Given the description of an element on the screen output the (x, y) to click on. 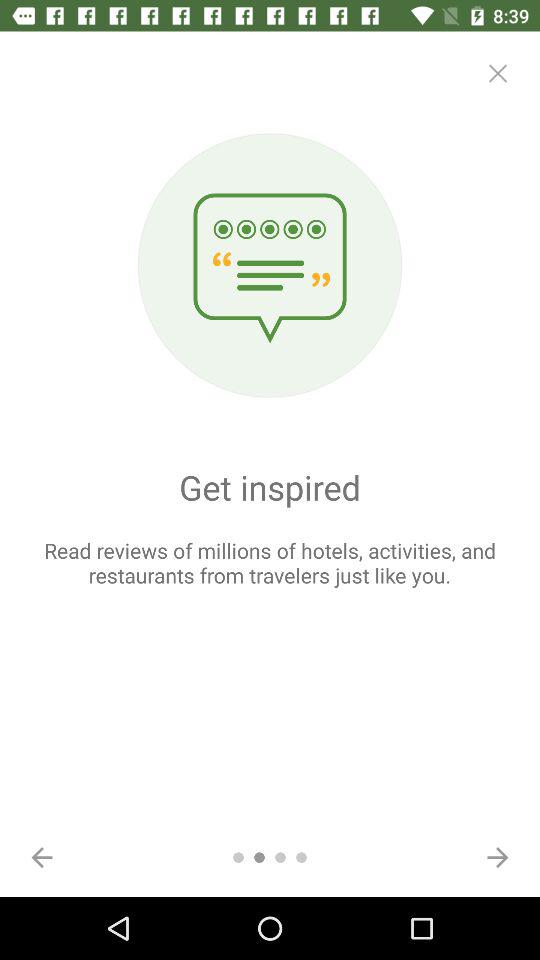
choose the item at the top right corner (497, 73)
